Given the description of an element on the screen output the (x, y) to click on. 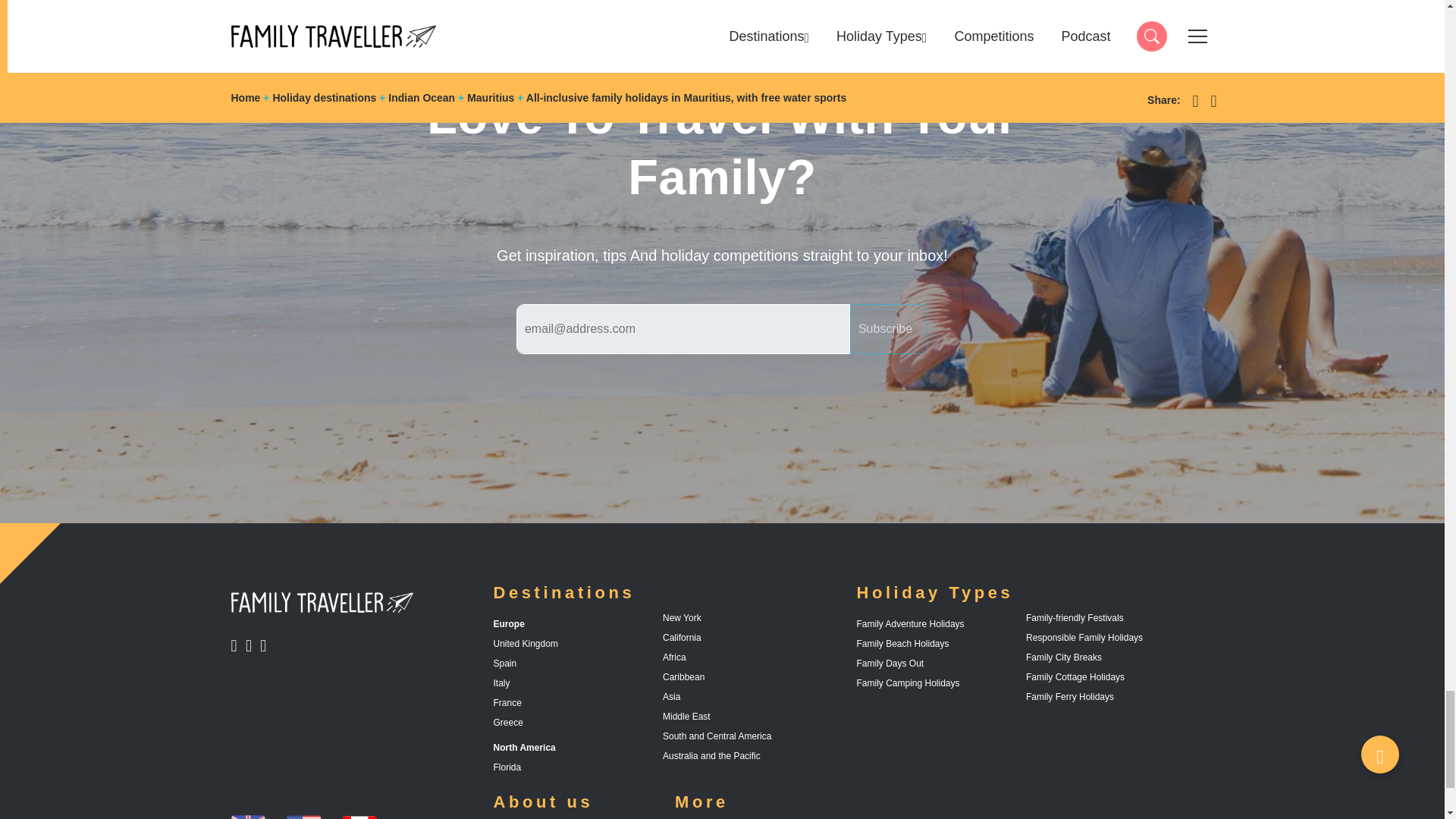
Subscribe (266, 645)
